Given the description of an element on the screen output the (x, y) to click on. 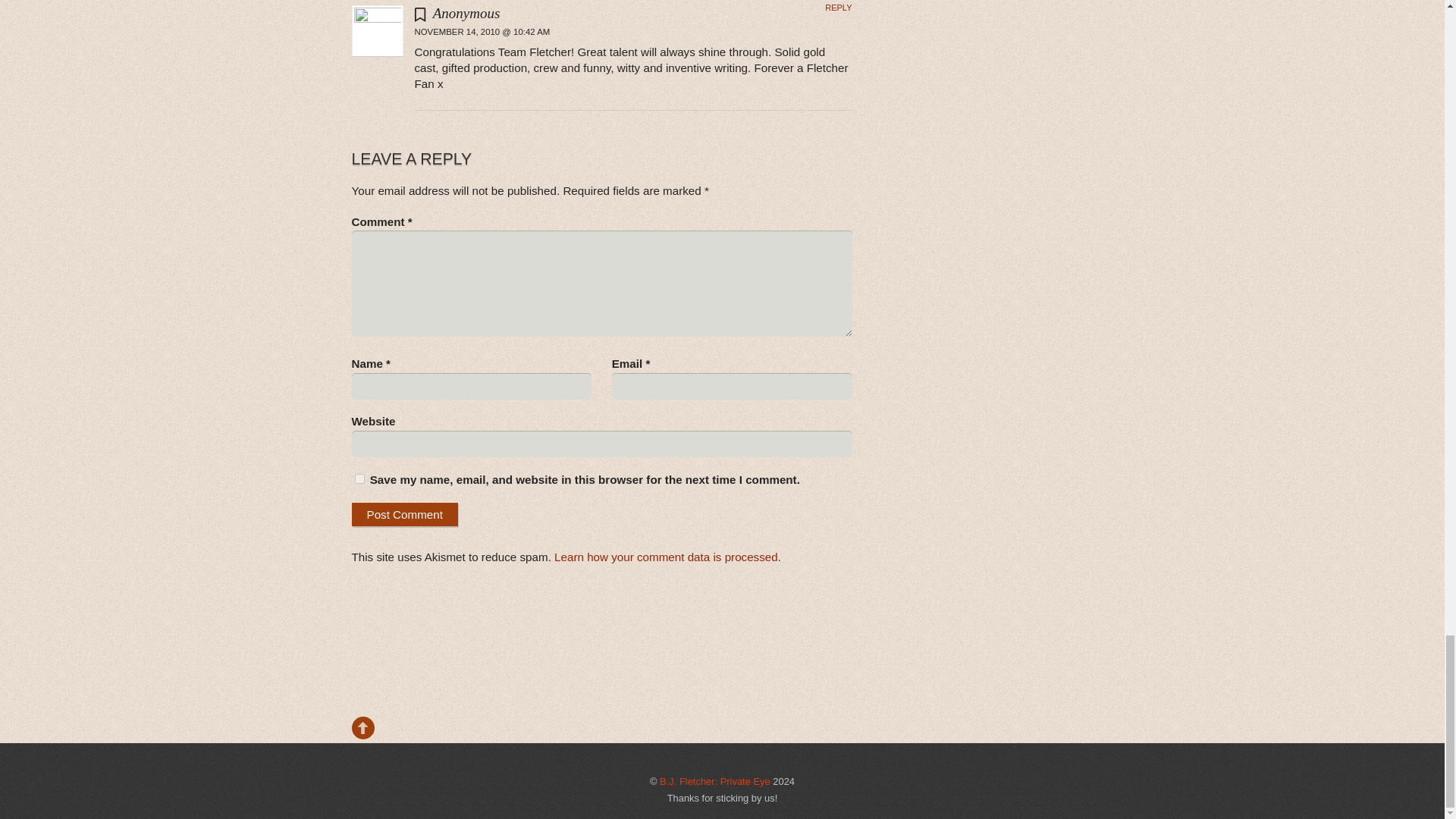
yes (360, 479)
Post Comment (405, 514)
